Given the description of an element on the screen output the (x, y) to click on. 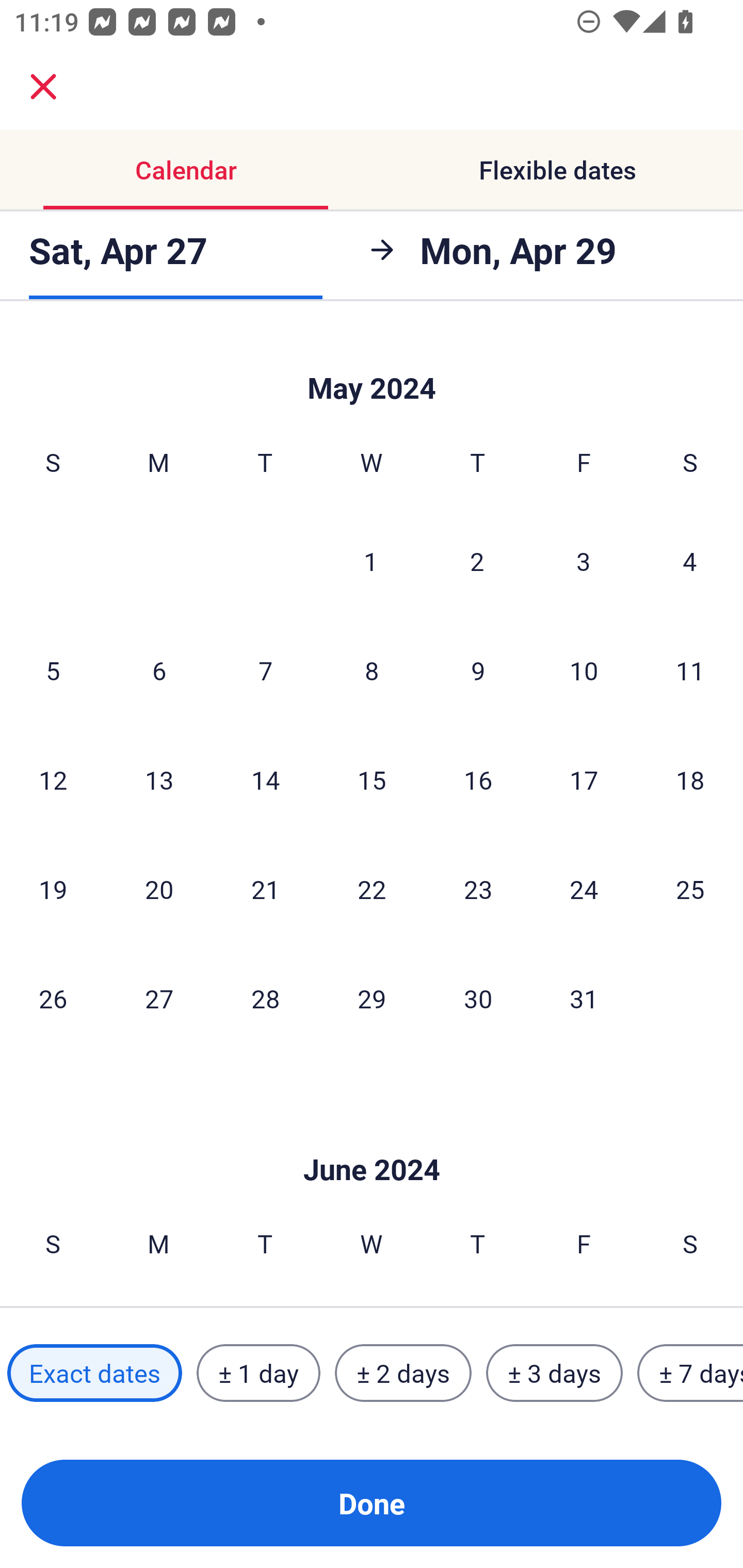
close. (43, 86)
Flexible dates (557, 170)
Skip to Done (371, 365)
1 Wednesday, May 1, 2024 (371, 560)
2 Thursday, May 2, 2024 (477, 560)
3 Friday, May 3, 2024 (583, 560)
4 Saturday, May 4, 2024 (689, 560)
5 Sunday, May 5, 2024 (53, 669)
6 Monday, May 6, 2024 (159, 669)
7 Tuesday, May 7, 2024 (265, 669)
8 Wednesday, May 8, 2024 (371, 669)
9 Thursday, May 9, 2024 (477, 669)
10 Friday, May 10, 2024 (584, 669)
11 Saturday, May 11, 2024 (690, 669)
12 Sunday, May 12, 2024 (53, 778)
13 Monday, May 13, 2024 (159, 778)
14 Tuesday, May 14, 2024 (265, 778)
15 Wednesday, May 15, 2024 (371, 778)
16 Thursday, May 16, 2024 (477, 778)
17 Friday, May 17, 2024 (584, 778)
